Given the description of an element on the screen output the (x, y) to click on. 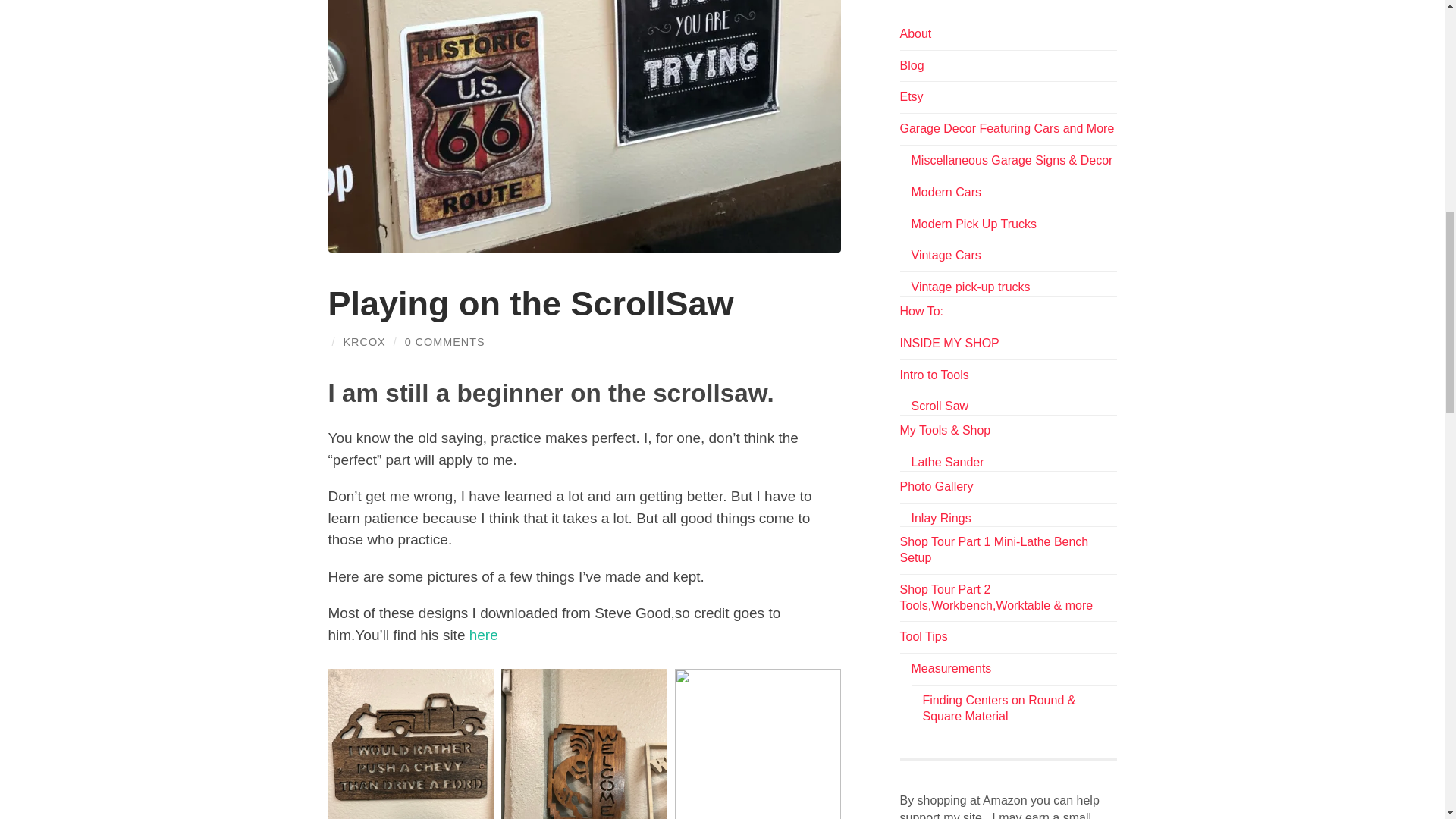
Posts by KRCox (363, 341)
